Given the description of an element on the screen output the (x, y) to click on. 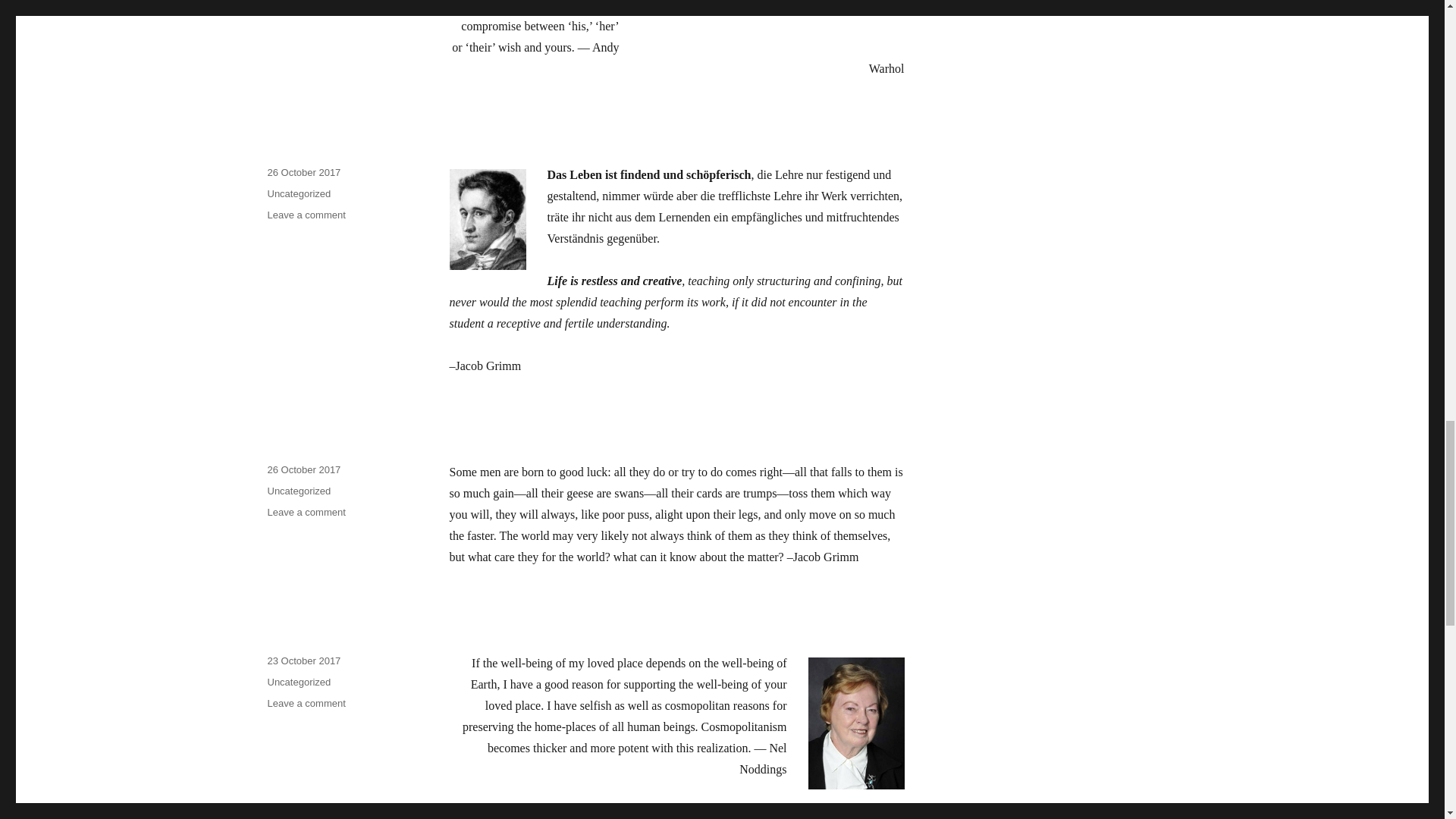
26 October 2017 (305, 511)
Uncategorized (303, 172)
Uncategorized (298, 681)
Uncategorized (305, 214)
23 October 2017 (305, 703)
26 October 2017 (298, 193)
